Given the description of an element on the screen output the (x, y) to click on. 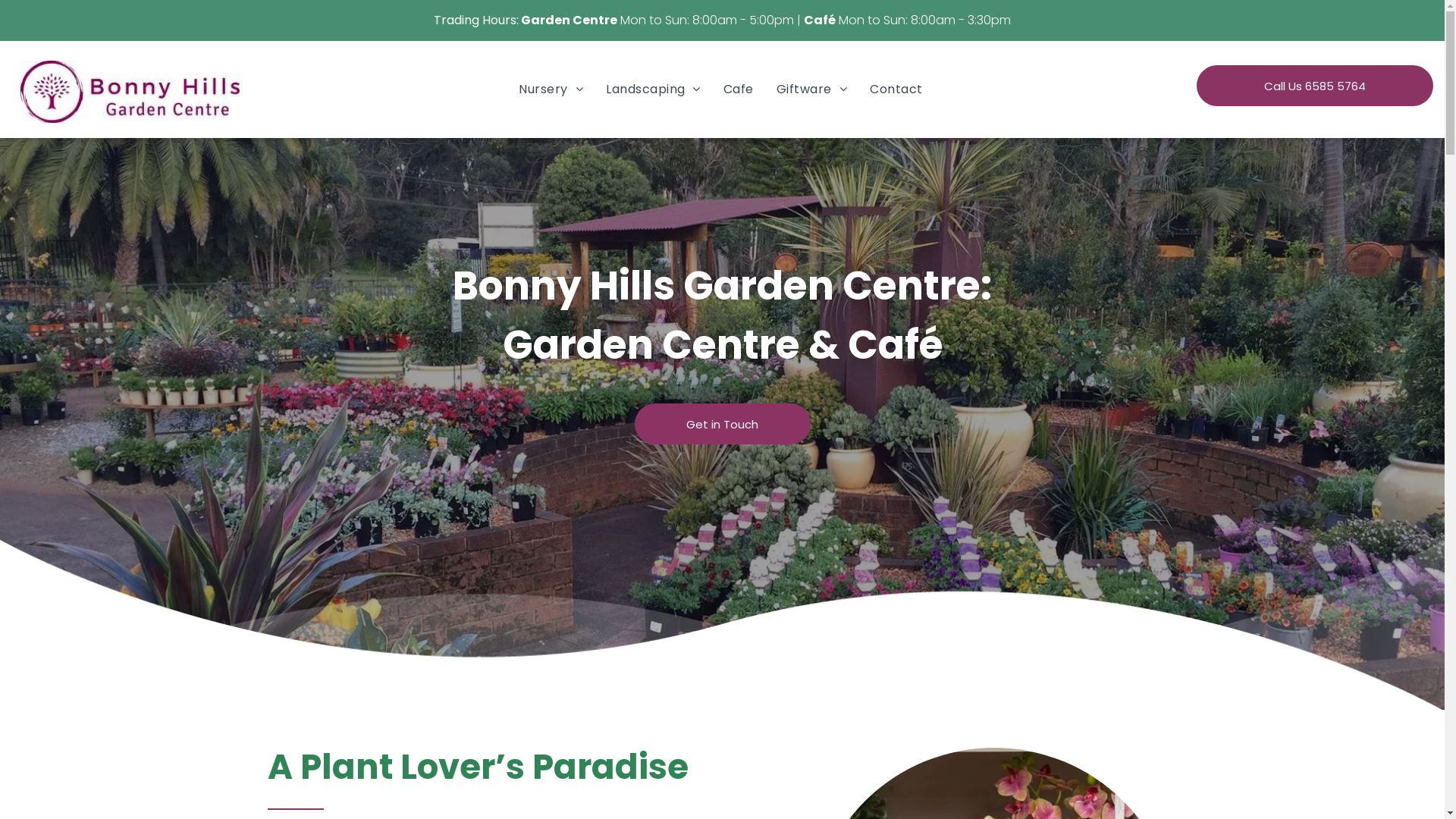
Contact Element type: text (895, 89)
Call Us 6585 5764 Element type: text (1315, 85)
Get in Touch Element type: text (721, 423)
Nursery Element type: text (550, 89)
Giftware Element type: text (811, 89)
Cafe Element type: text (738, 89)
Landscaping Element type: text (653, 89)
